Given the description of an element on the screen output the (x, y) to click on. 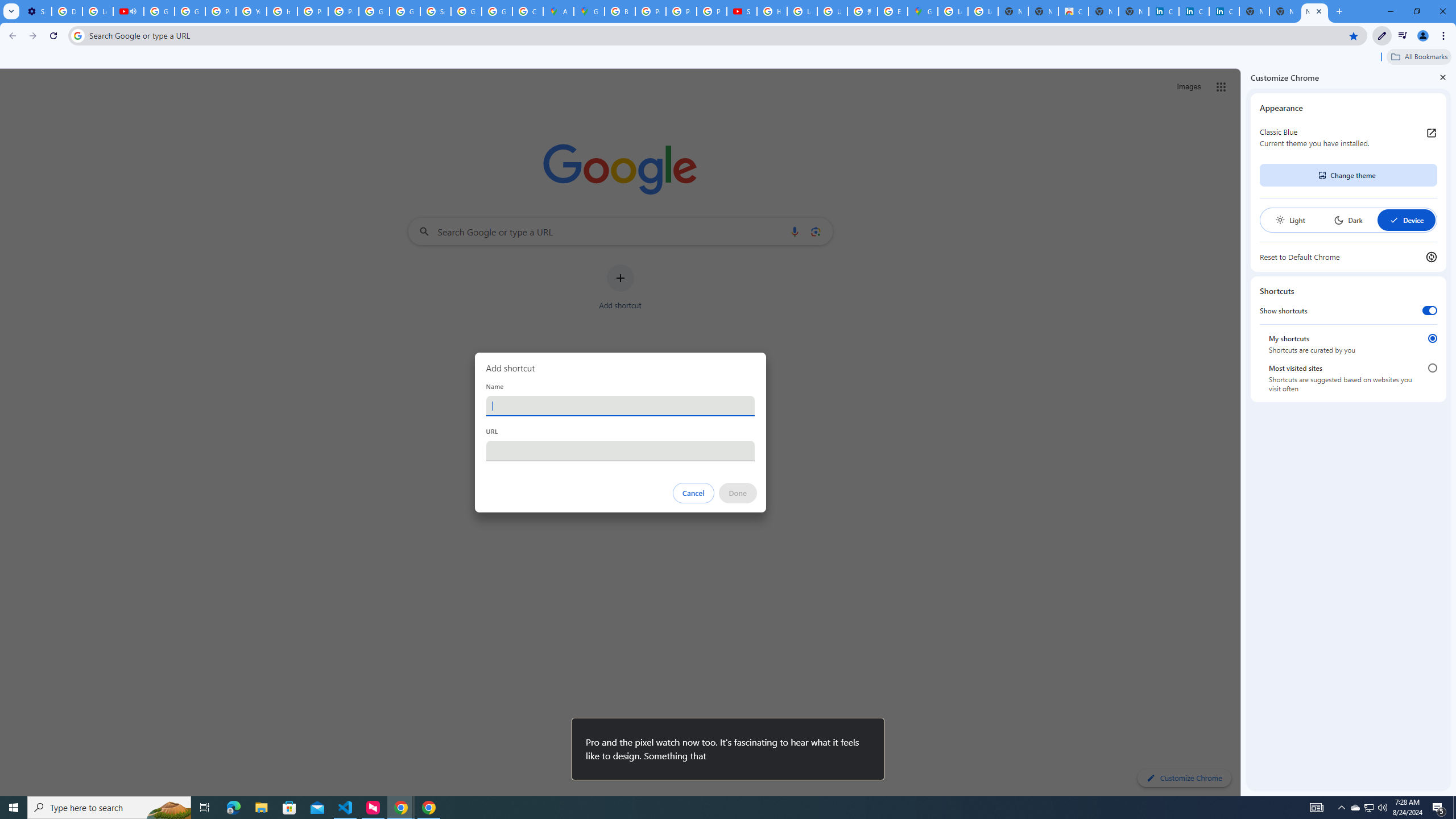
Explore new street-level details - Google Maps Help (892, 11)
Settings - Customize profile (36, 11)
Subscriptions - YouTube (741, 11)
Cookie Policy | LinkedIn (1193, 11)
Privacy Help Center - Policies Help (220, 11)
Device (1406, 219)
Side Panel Resize Handle (1242, 431)
Cancel (693, 493)
